Given the description of an element on the screen output the (x, y) to click on. 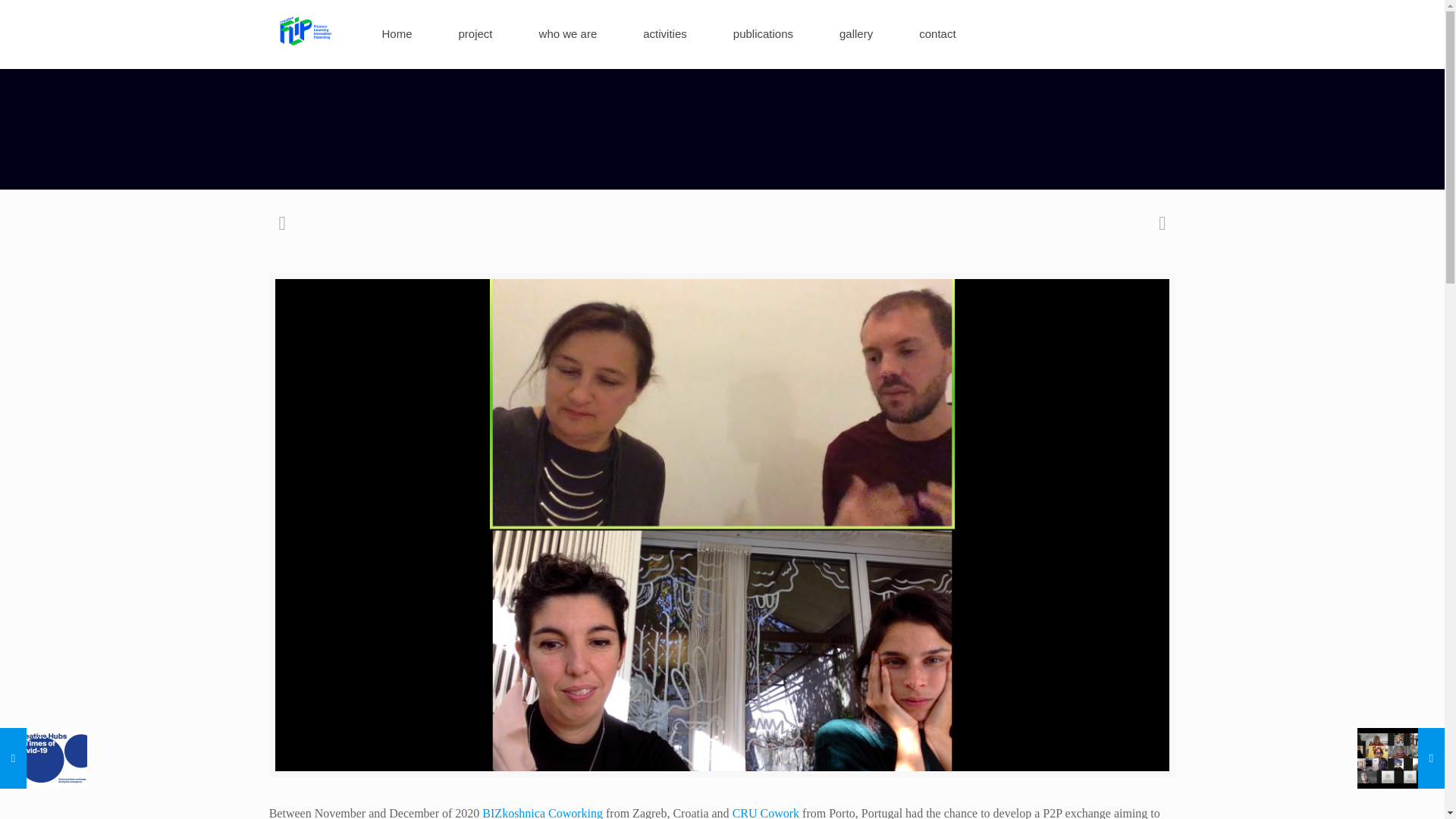
contact (937, 33)
BIZkoshnica Coworking (540, 812)
activities (665, 33)
who we are (568, 33)
gallery (856, 33)
CRU Cowork (767, 812)
project (475, 33)
Home (396, 33)
publications (763, 33)
Creative FLIP (304, 30)
